Given the description of an element on the screen output the (x, y) to click on. 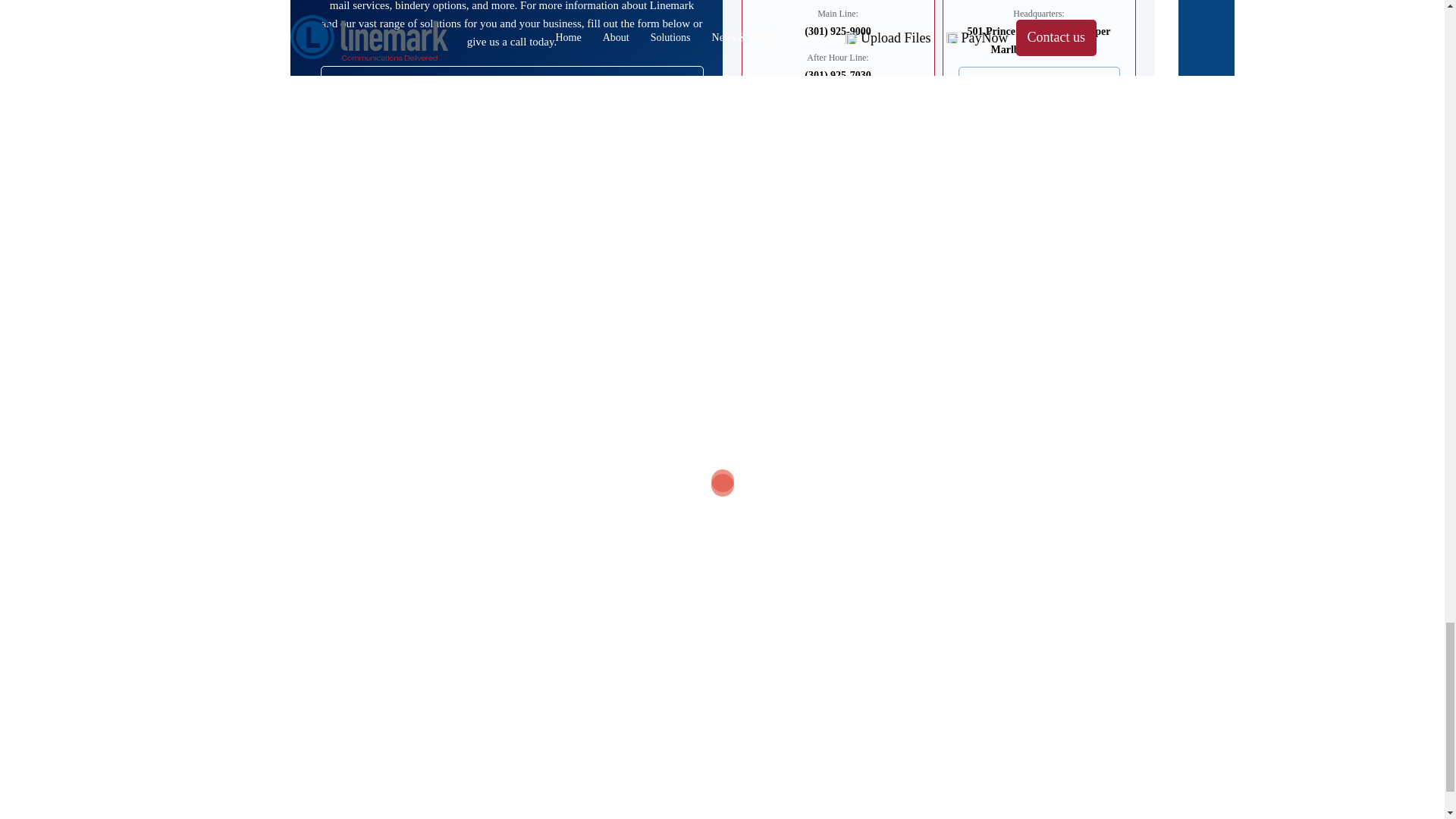
Contact Us (511, 263)
Contact Us (511, 263)
